Given the description of an element on the screen output the (x, y) to click on. 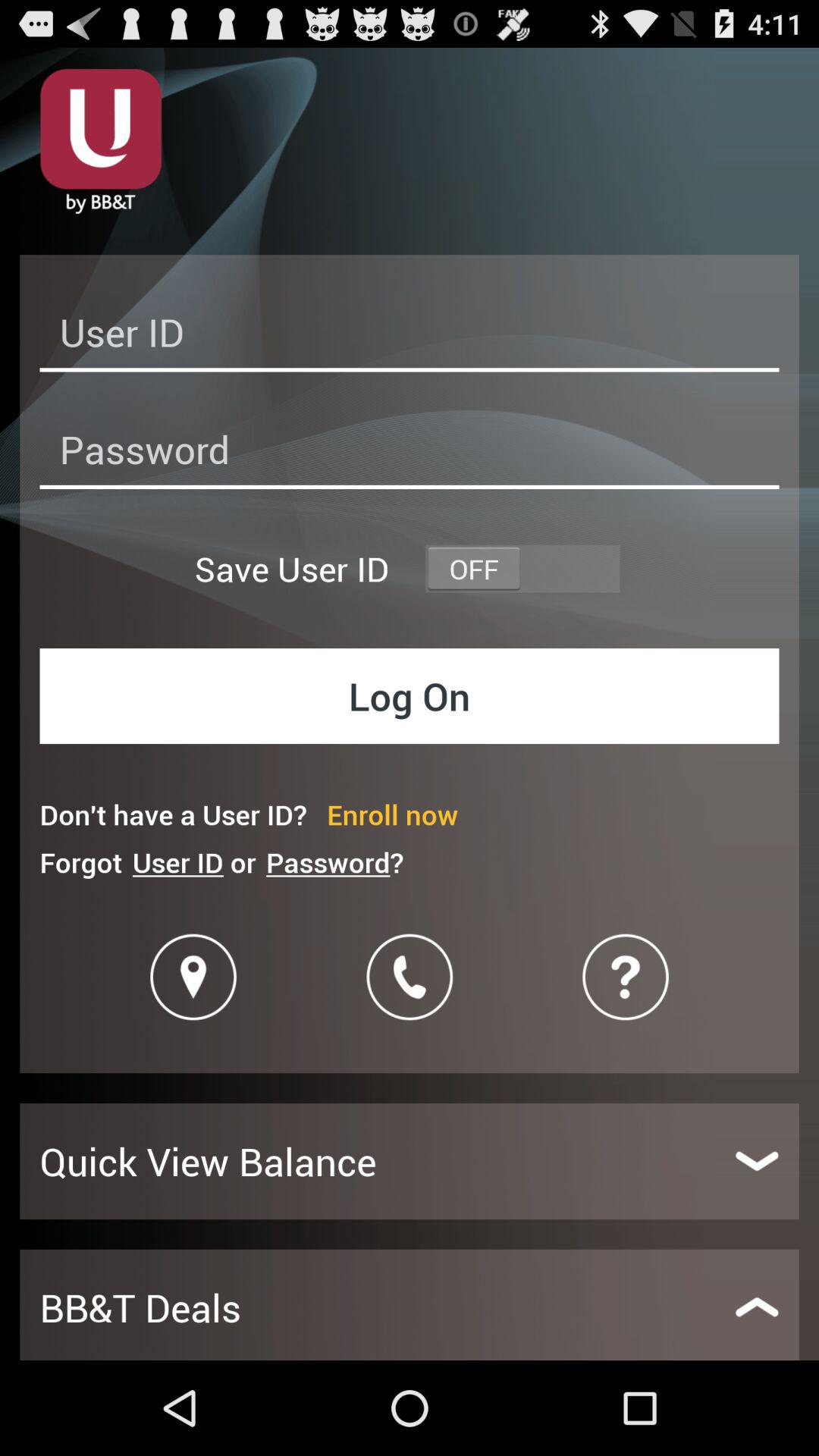
launch item next to don t have item (392, 814)
